Given the description of an element on the screen output the (x, y) to click on. 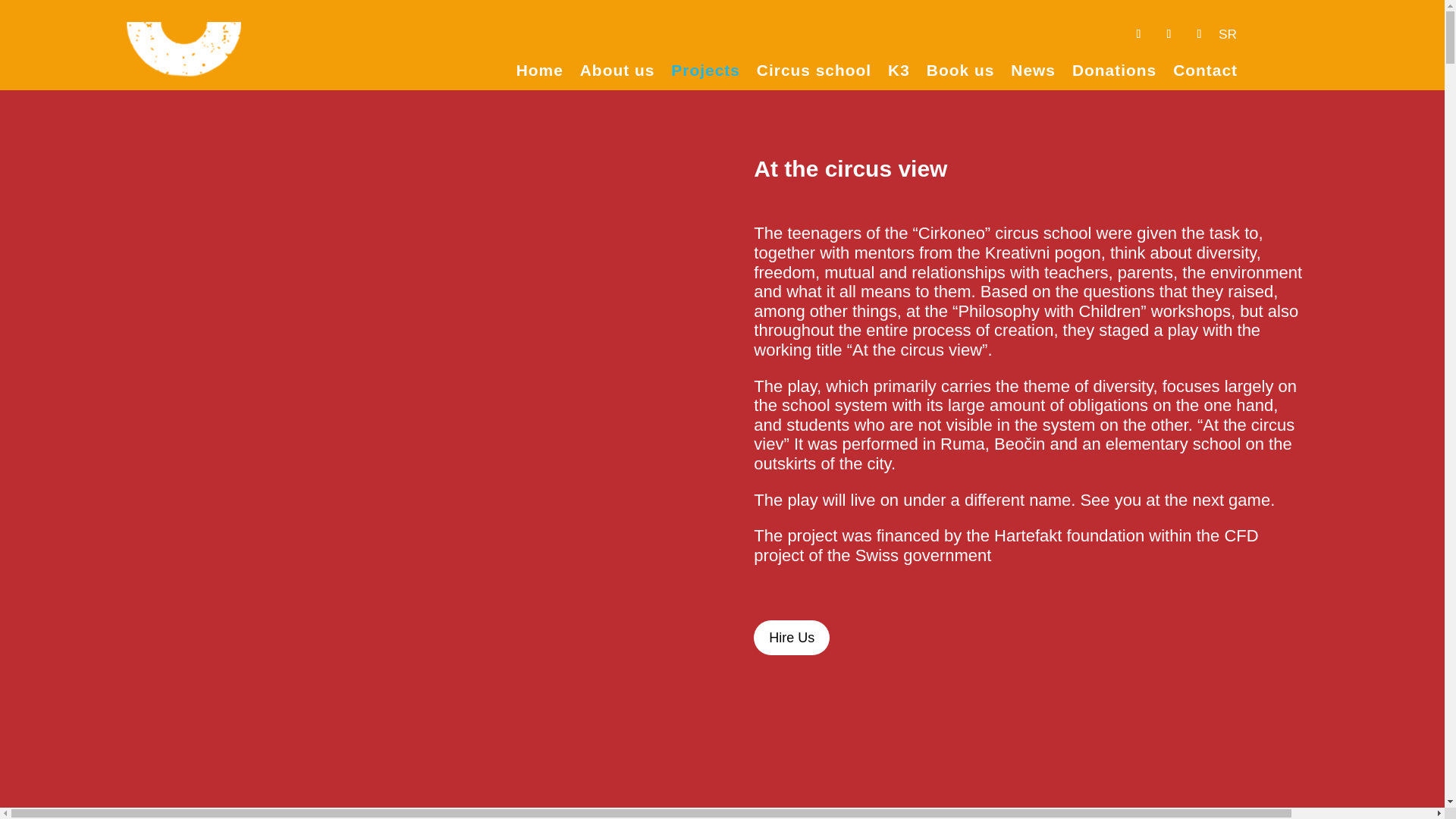
Book us (960, 73)
Follow on Youtube (1168, 33)
About us (617, 73)
Circus school (813, 73)
Hire Us (791, 636)
Follow on Facebook (1137, 33)
Home (539, 73)
Contact (1205, 73)
Donations (1113, 73)
Logo glavni beli tablet (183, 60)
Follow on Instagram (1198, 33)
K3 (899, 73)
News (1032, 73)
Projects (705, 73)
